Given the description of an element on the screen output the (x, y) to click on. 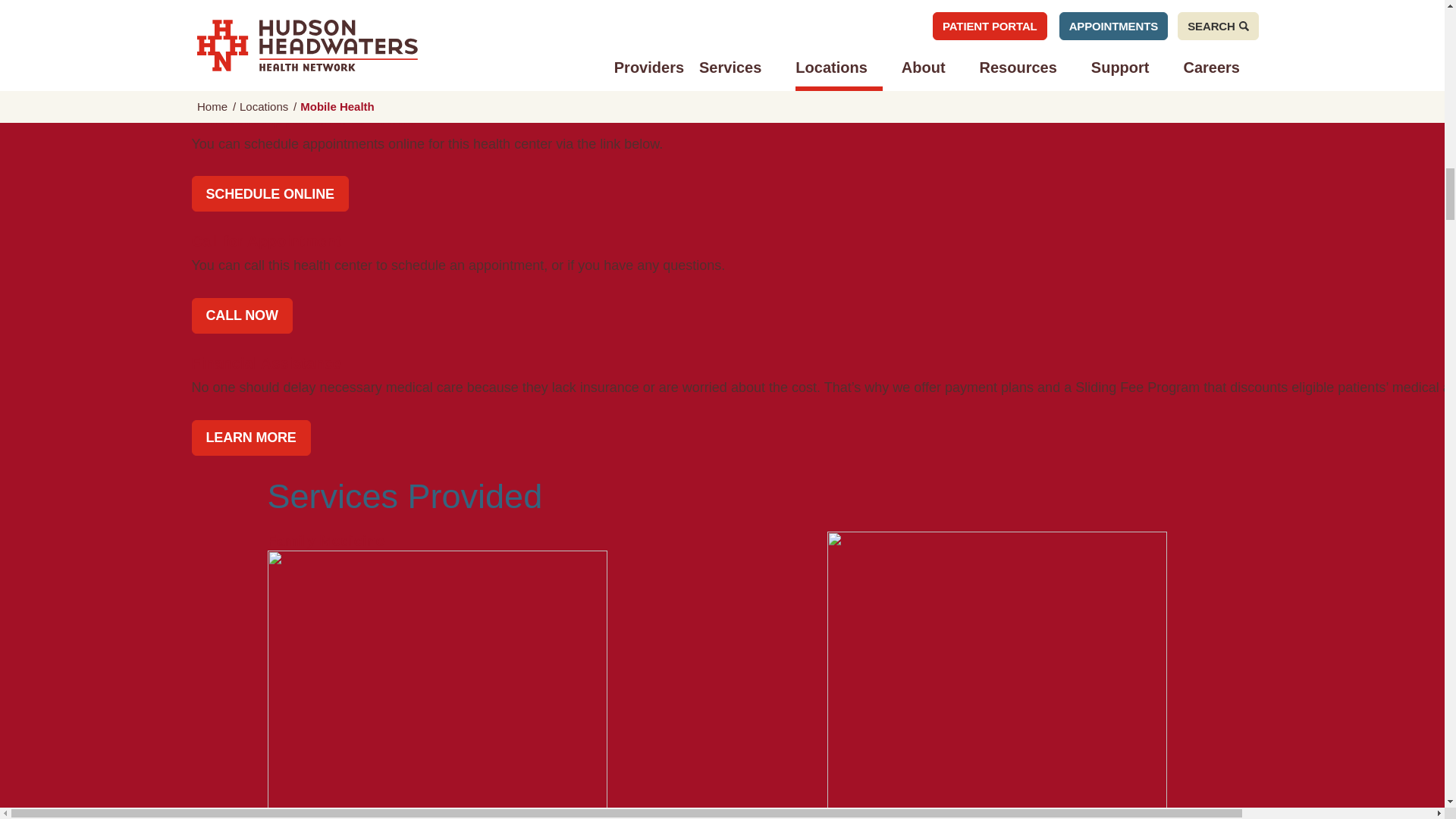
Family Medicine (436, 675)
